Given the description of an element on the screen output the (x, y) to click on. 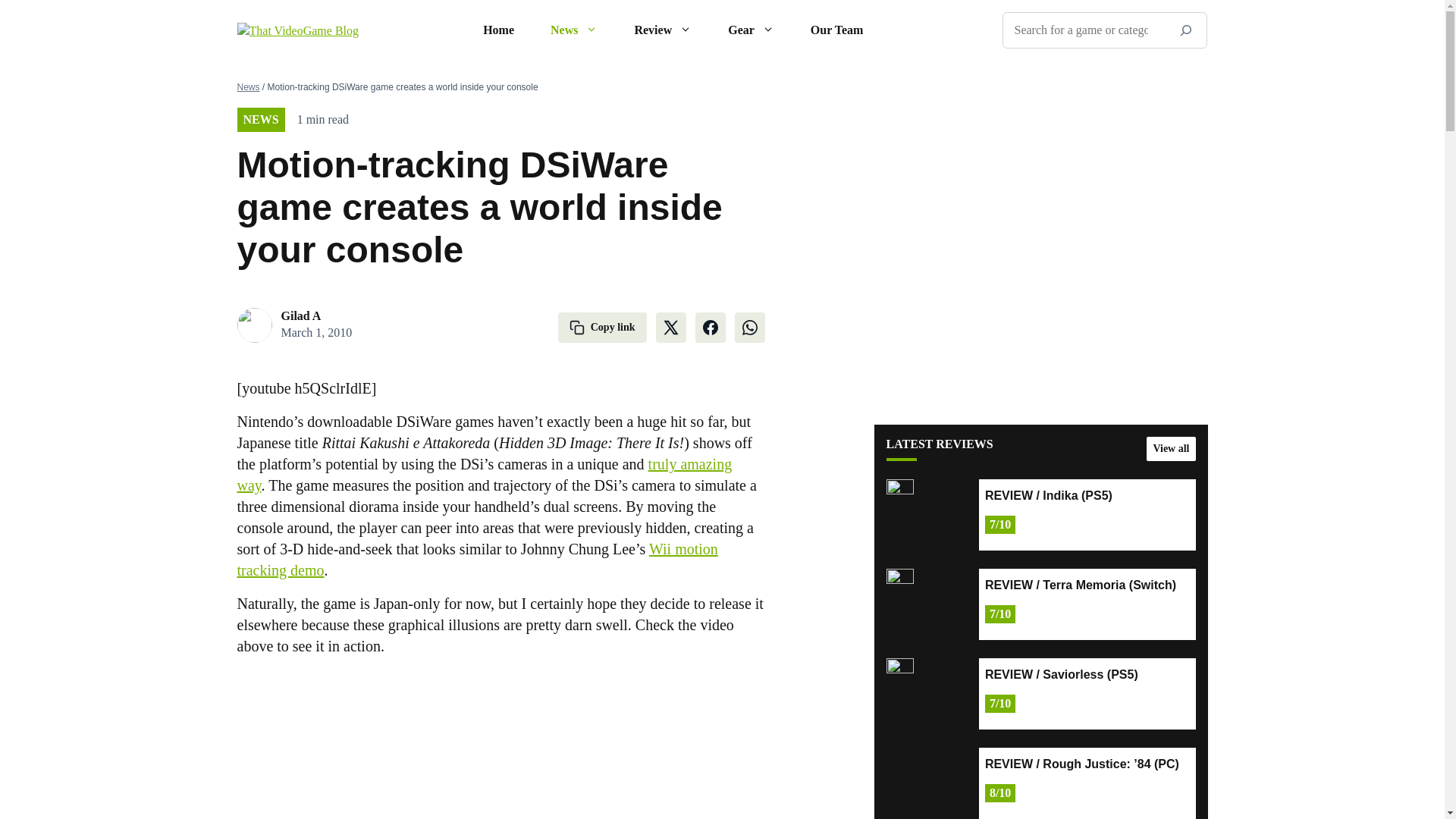
Review (662, 29)
Home (498, 29)
Gear (751, 29)
News (573, 29)
